Given the description of an element on the screen output the (x, y) to click on. 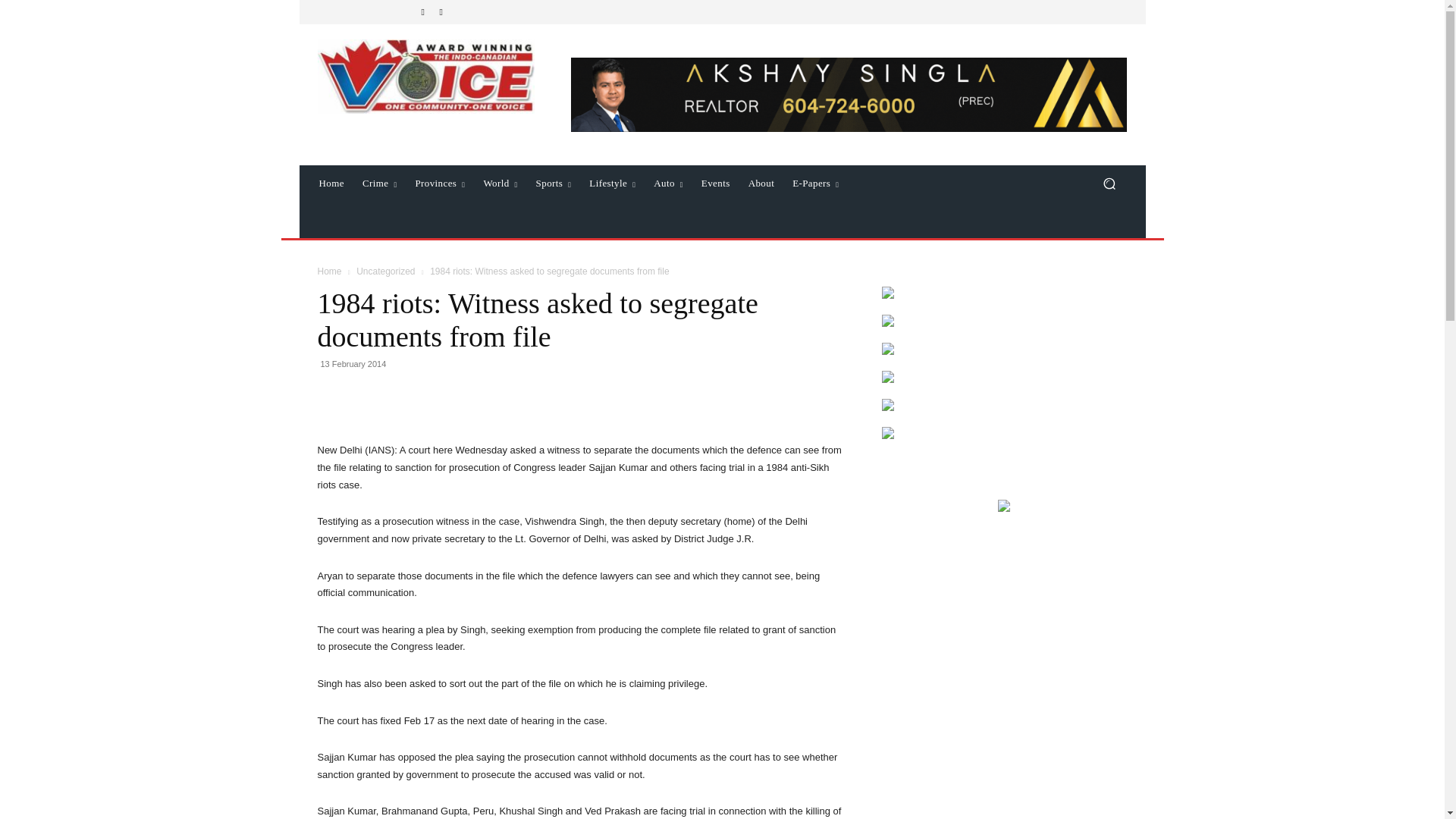
Home (330, 183)
Facebook (422, 12)
Twitter (440, 12)
Crime (379, 183)
